Given the description of an element on the screen output the (x, y) to click on. 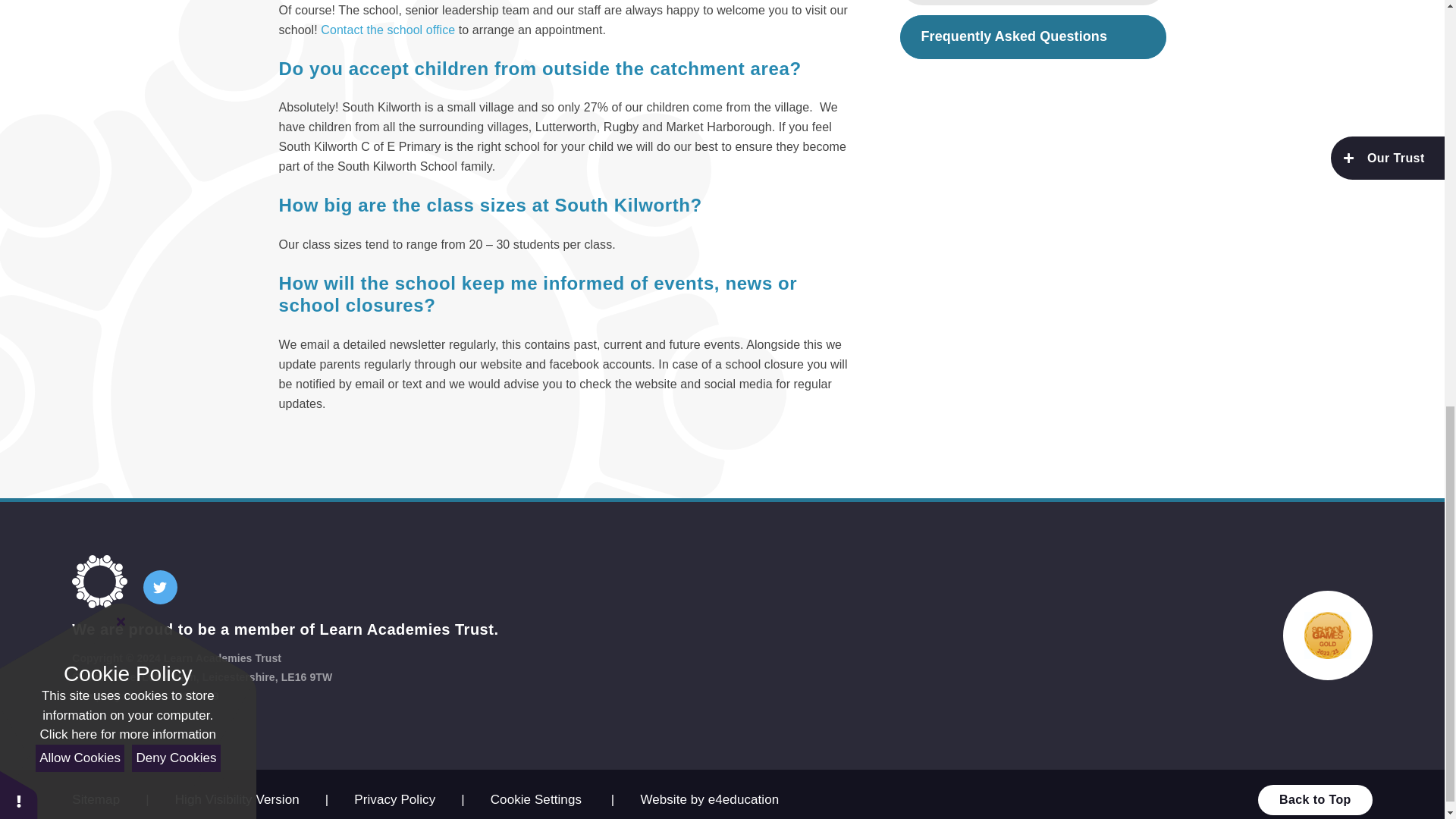
School Games Mark Gold (1327, 635)
Cookie Settings (535, 799)
